Given the description of an element on the screen output the (x, y) to click on. 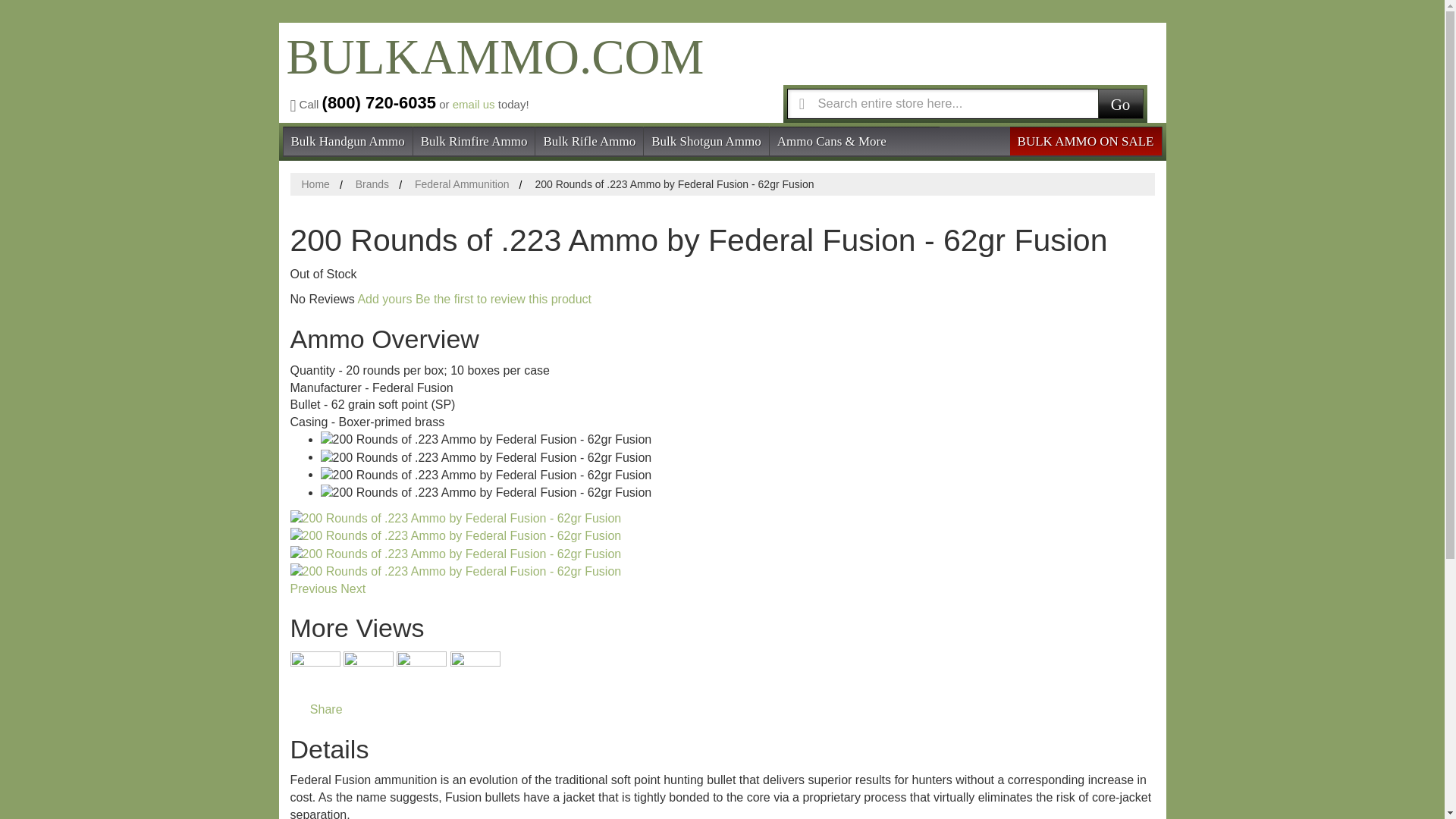
200 Rounds of .223 Ammo by Federal Fusion - 62gr Fusion (485, 457)
200 Rounds of .223 Ammo by Federal Fusion - 62gr Fusion (485, 475)
Home (315, 183)
email us (473, 103)
Bulk Rifle Ammo (589, 140)
Federal Ammunition (461, 183)
BULKAMMO.COM (491, 69)
200 Rounds of .223 Ammo by Federal Fusion - 62gr Fusion (455, 554)
Bulk Ammo For Sale (491, 69)
200 Rounds of .223 Ammo by Federal Fusion - 62gr Fusion (455, 536)
Bulk Handgun Ammo (347, 140)
Brands (371, 183)
200 Rounds of .223 Ammo by Federal Fusion - 62gr Fusion (485, 439)
Go (1119, 102)
200 Rounds of .223 Ammo by Federal Fusion - 62gr Fusion (455, 571)
